Given the description of an element on the screen output the (x, y) to click on. 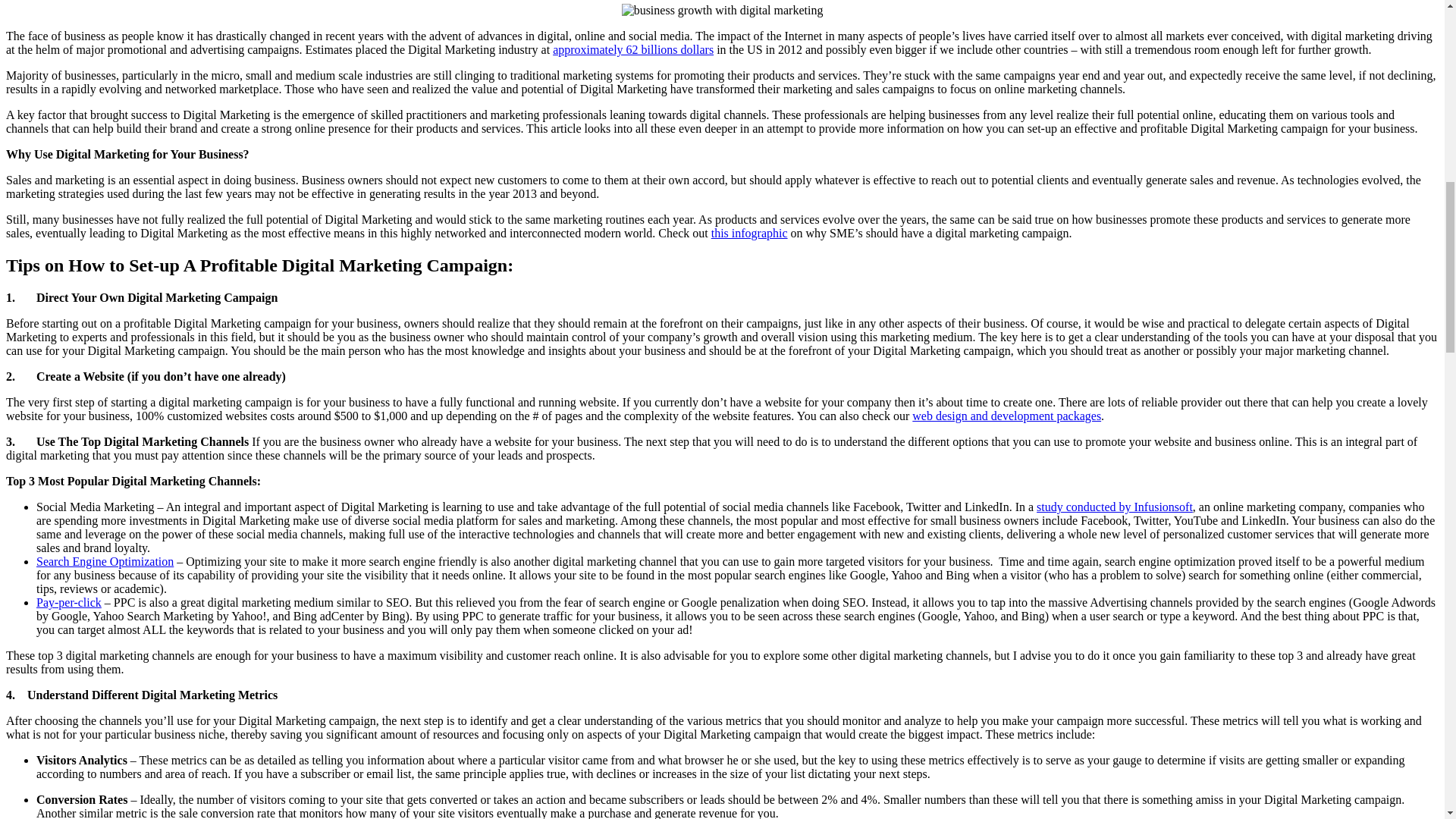
Pay-per-click (68, 602)
this infographic (749, 232)
Search Engine Optimization (104, 561)
approximately 62 billions dollars (633, 49)
web design and development packages (1006, 415)
study conducted by Infusionsoft (1114, 506)
